Given the description of an element on the screen output the (x, y) to click on. 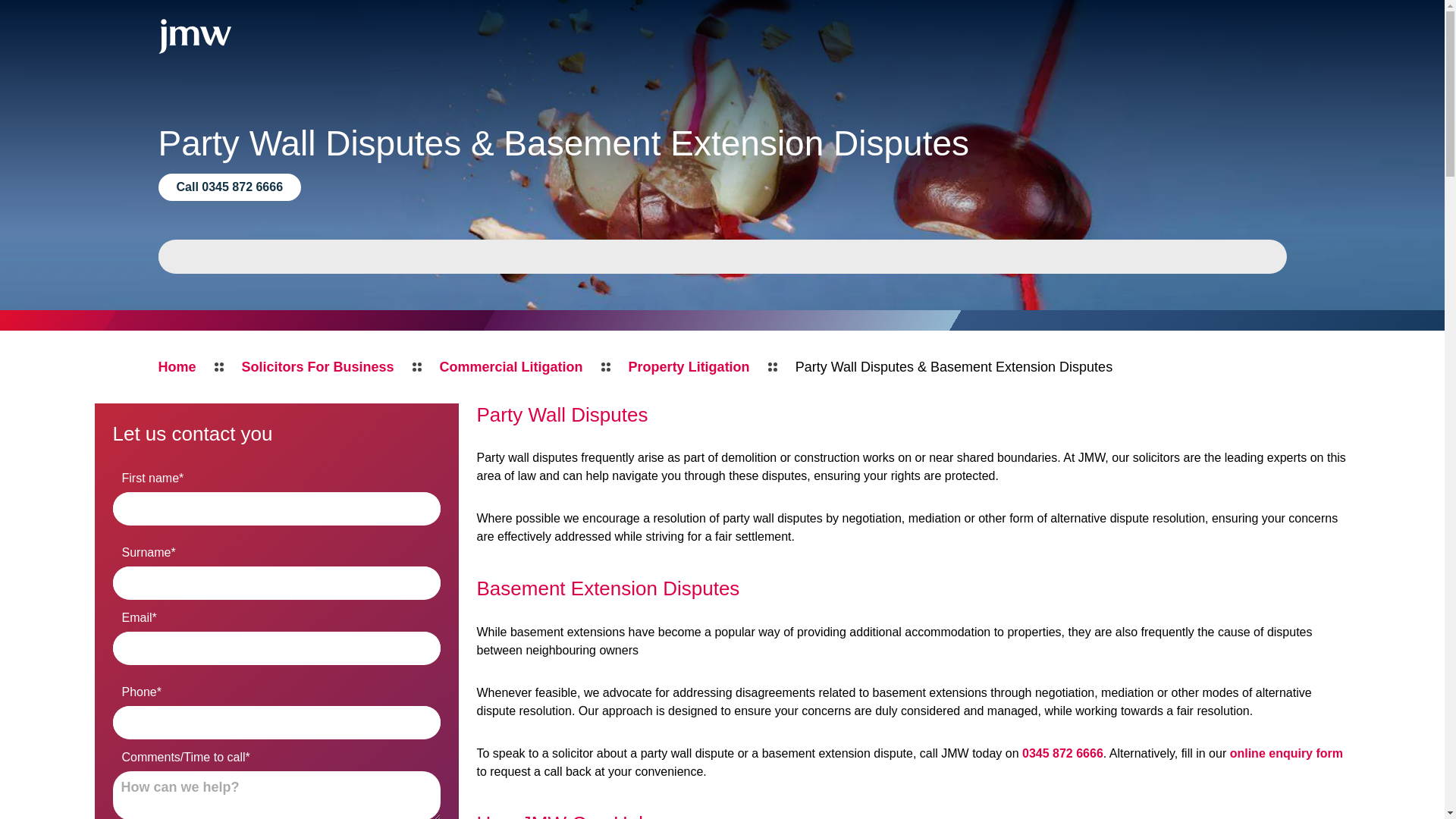
Solicitors For Business (317, 366)
Commercial Litigation (511, 366)
Call 0345 872 6666 (229, 186)
0345 872 6666 (1062, 753)
Property Litigation (688, 366)
Home (176, 366)
online enquiry form (1286, 753)
